Given the description of an element on the screen output the (x, y) to click on. 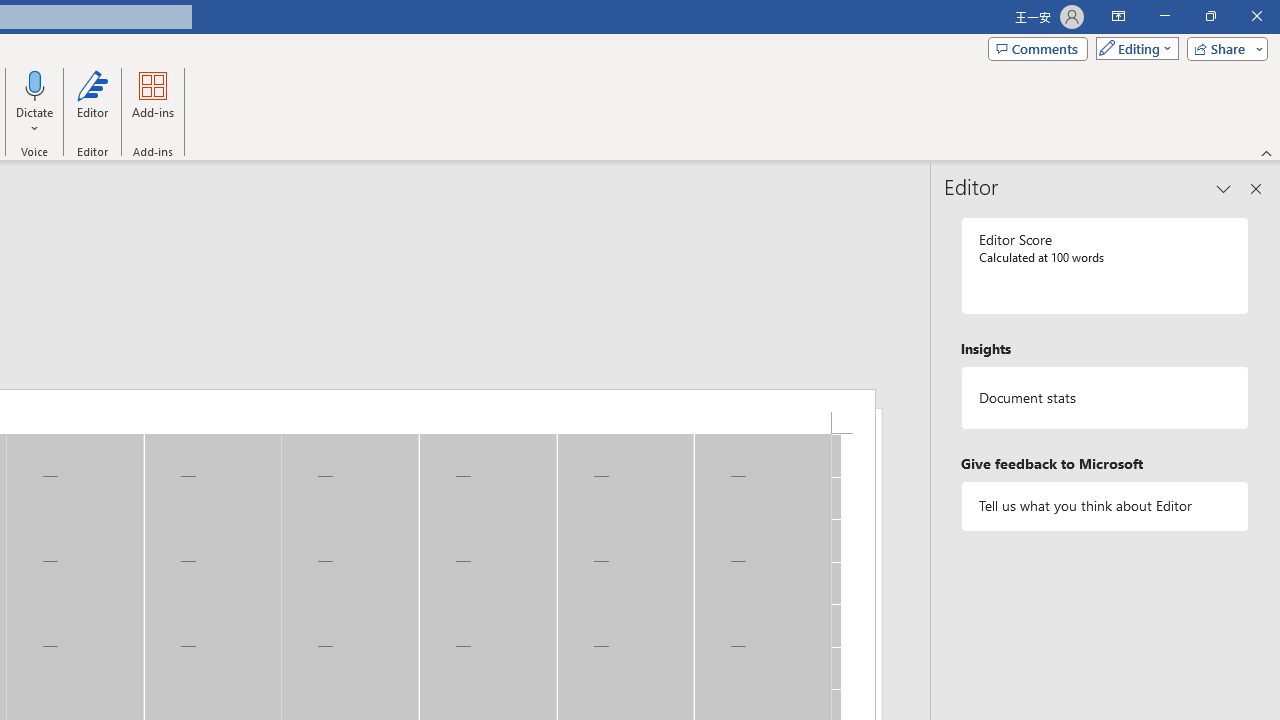
Mode (1133, 47)
Editor (92, 102)
Document statistics (1105, 398)
Tell us what you think about Editor (1105, 506)
